Given the description of an element on the screen output the (x, y) to click on. 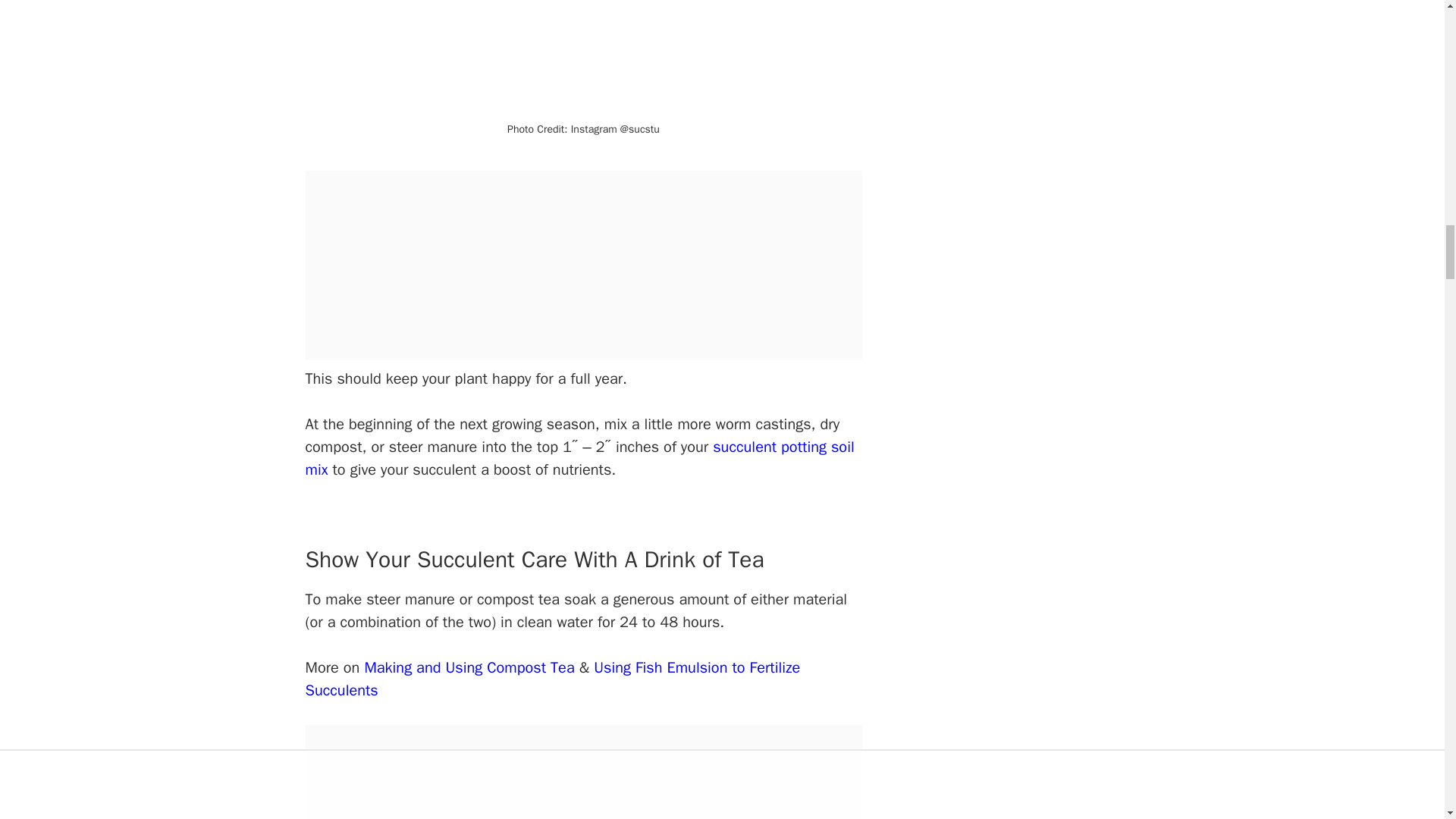
Using Fish Emulsion to Fertilize Succulents (551, 679)
succulent potting soil mix (578, 458)
Making and Using Compost Tea (468, 667)
